Given the description of an element on the screen output the (x, y) to click on. 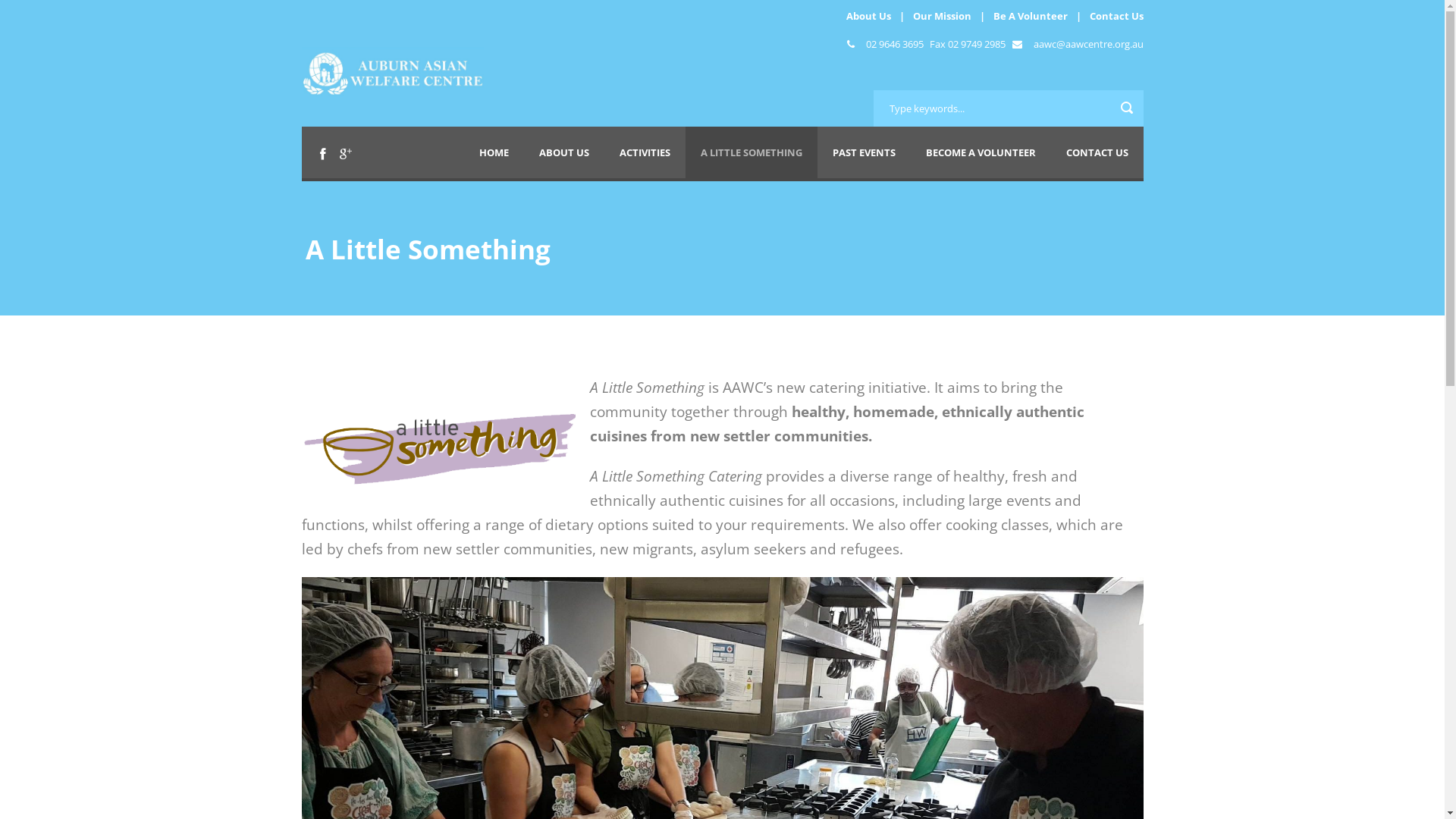
CONTACT US Element type: text (1097, 152)
ACTIVITIES Element type: text (643, 152)
PAST EVENTS Element type: text (863, 152)
Our Mission Element type: text (942, 15)
HOME Element type: text (494, 152)
A LITTLE SOMETHING Element type: text (751, 152)
Contact Us Element type: text (1115, 15)
Be A Volunteer Element type: text (1030, 15)
About Us Element type: text (868, 15)
aawc@aawcentre.org.au Element type: text (1087, 43)
BECOME A VOLUNTEER Element type: text (980, 152)
ABOUT US Element type: text (563, 152)
02 9646 3695 Element type: text (894, 43)
